Given the description of an element on the screen output the (x, y) to click on. 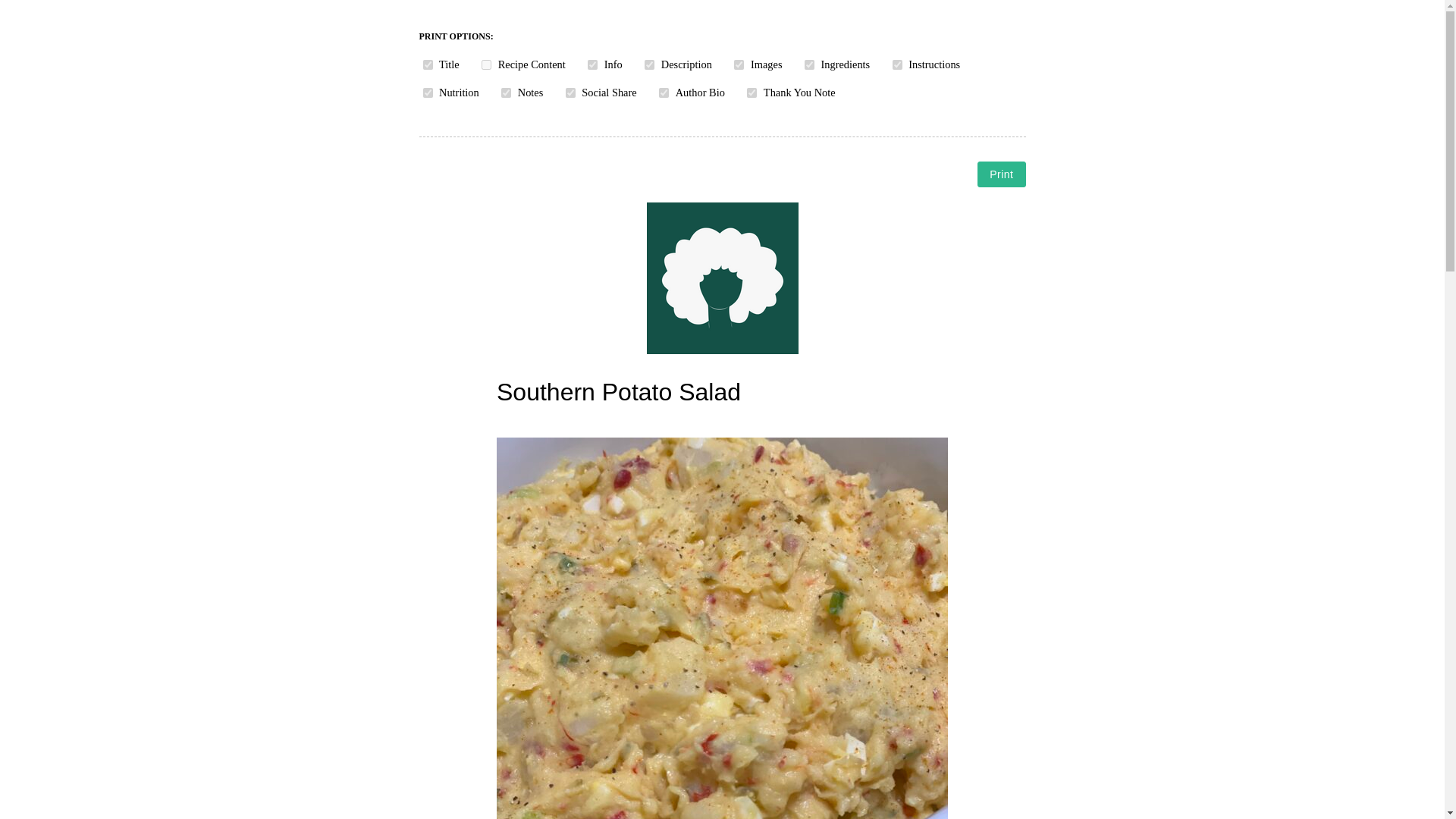
1 (592, 64)
1 (427, 92)
1 (427, 64)
1 (486, 64)
1 (505, 92)
1 (570, 92)
